Given the description of an element on the screen output the (x, y) to click on. 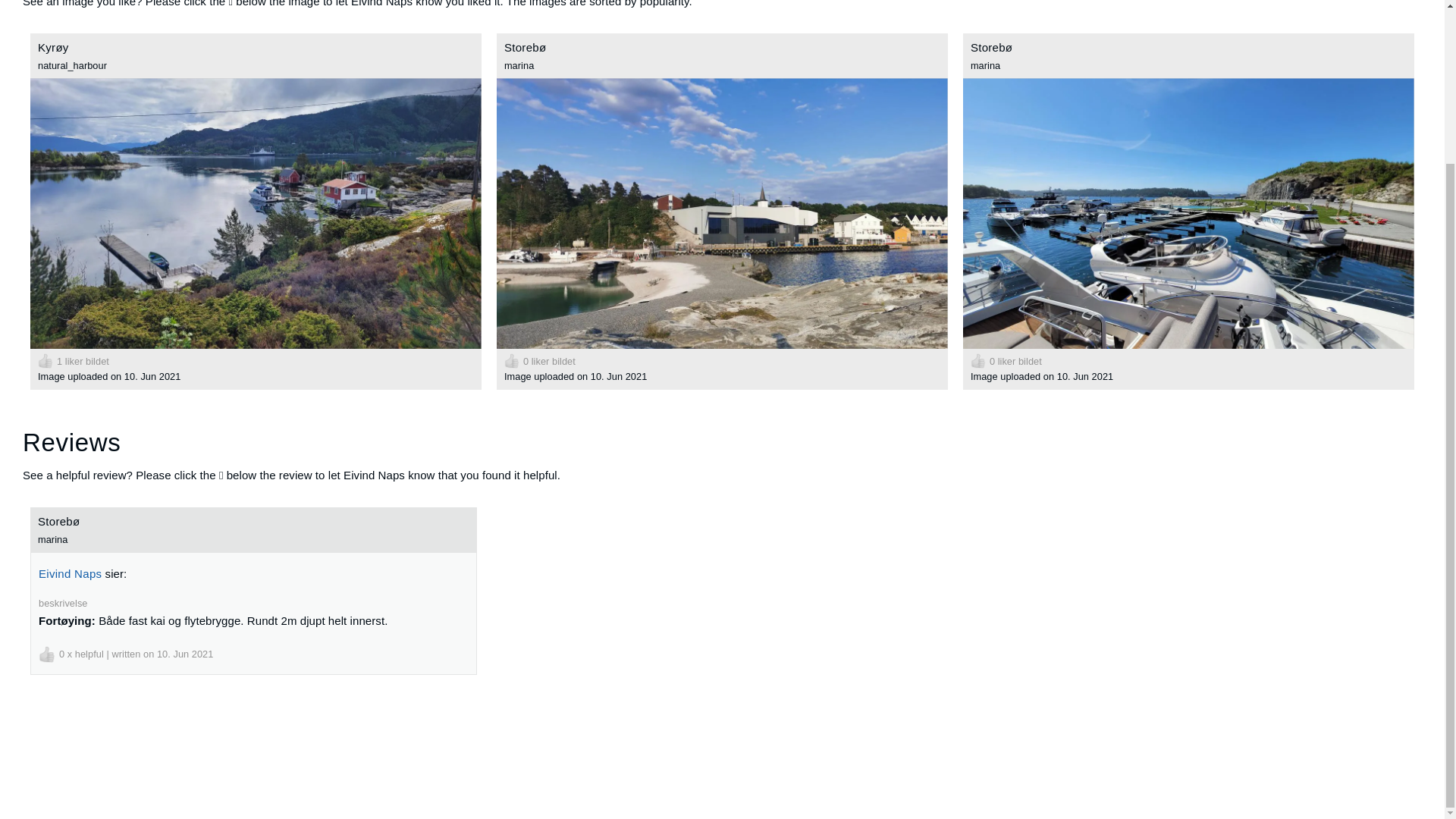
Eivind Naps (70, 573)
